Given the description of an element on the screen output the (x, y) to click on. 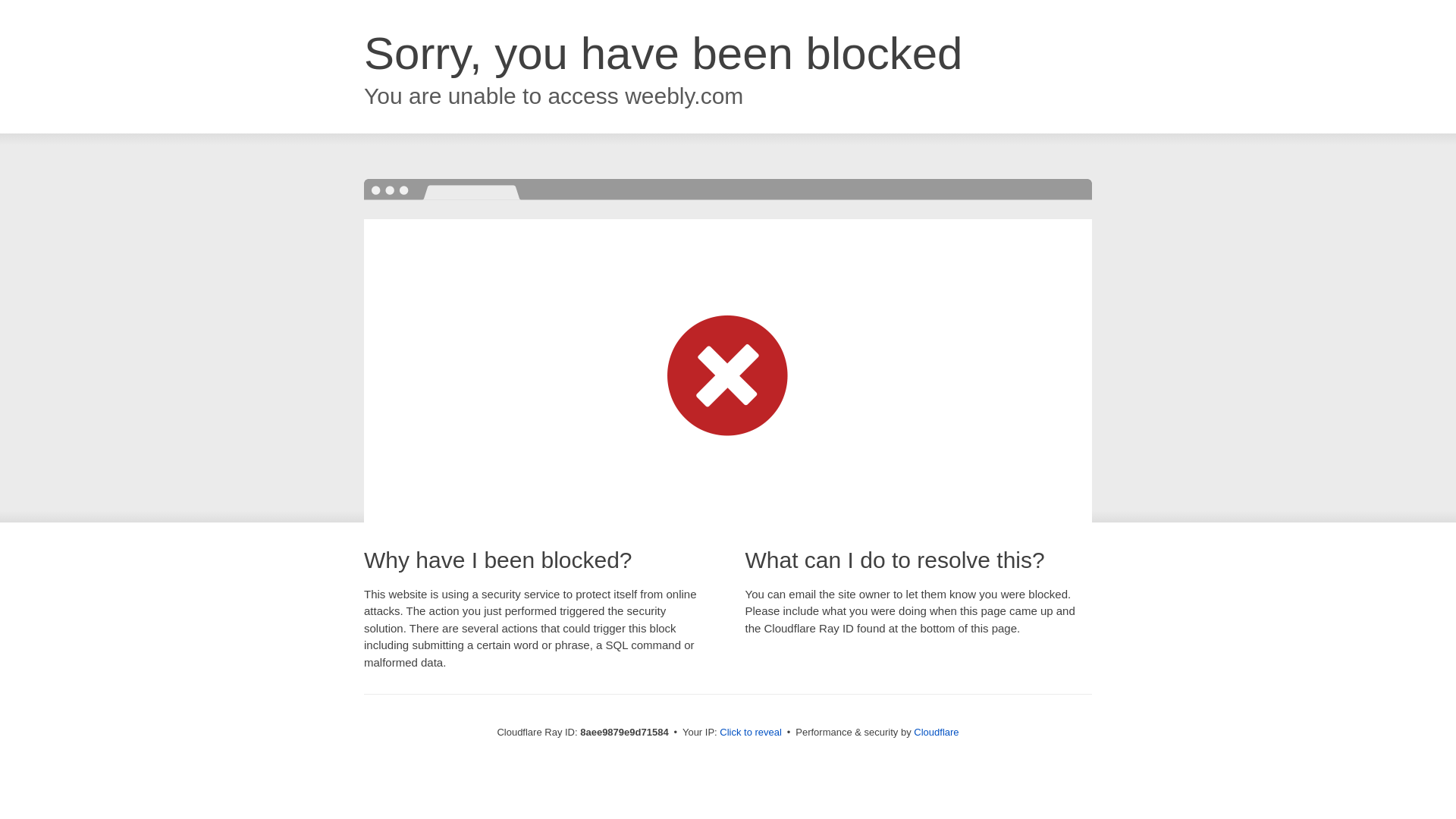
Cloudflare (936, 731)
Click to reveal (750, 732)
